Given the description of an element on the screen output the (x, y) to click on. 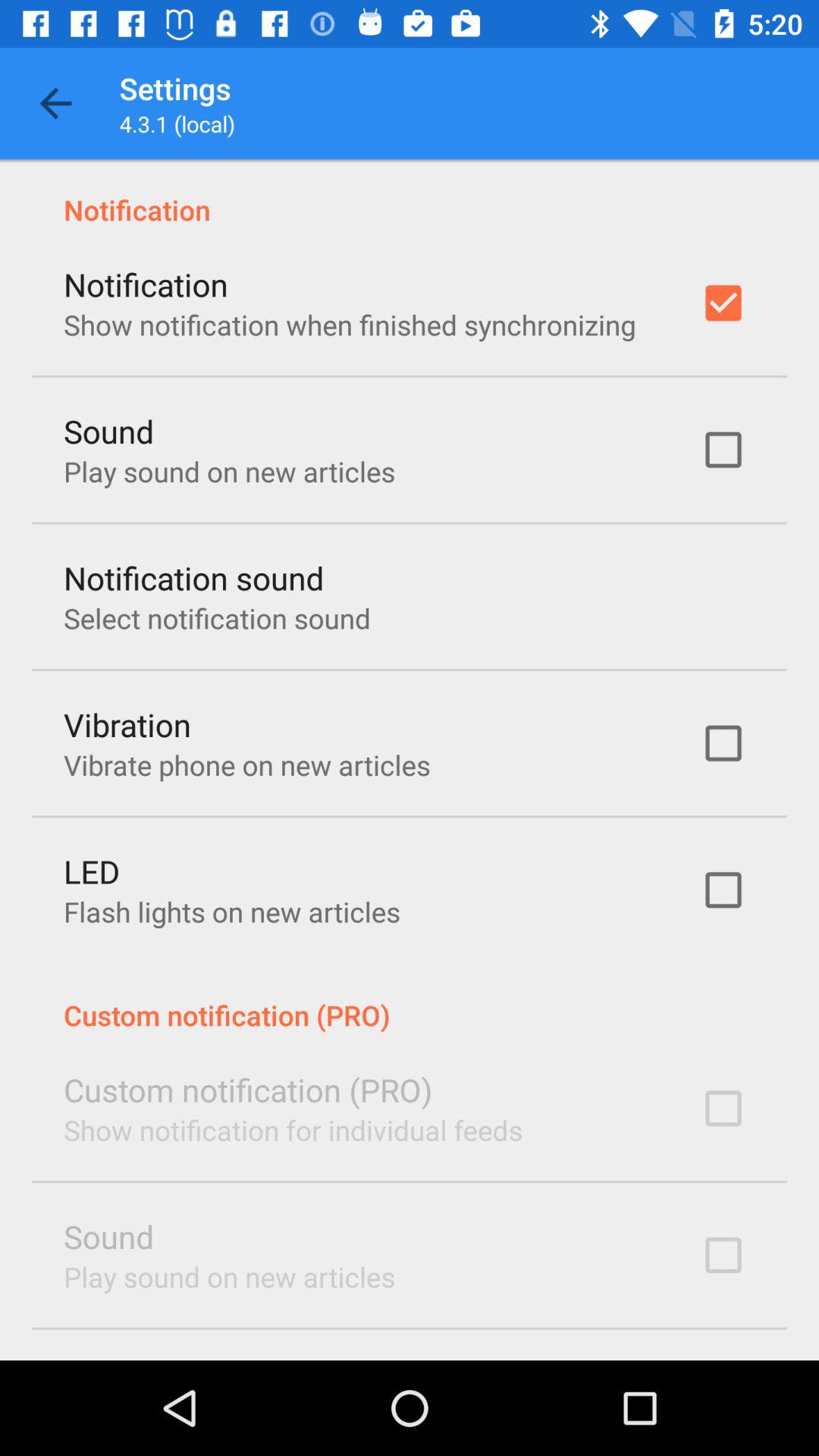
turn off the vibrate phone on (246, 764)
